Given the description of an element on the screen output the (x, y) to click on. 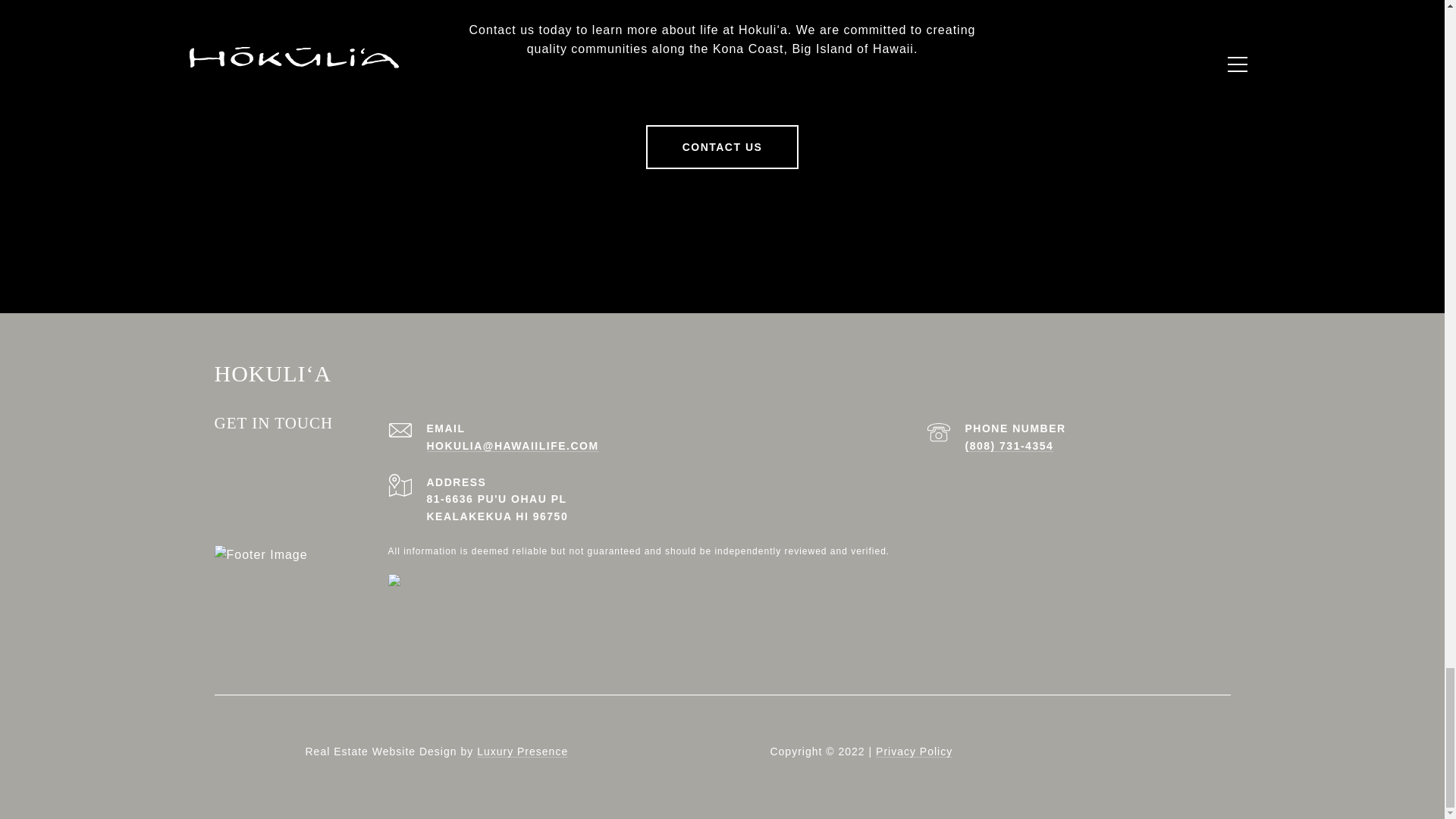
Luxury Presence (522, 751)
Privacy Policy (914, 751)
CONTACT US (722, 146)
